Given the description of an element on the screen output the (x, y) to click on. 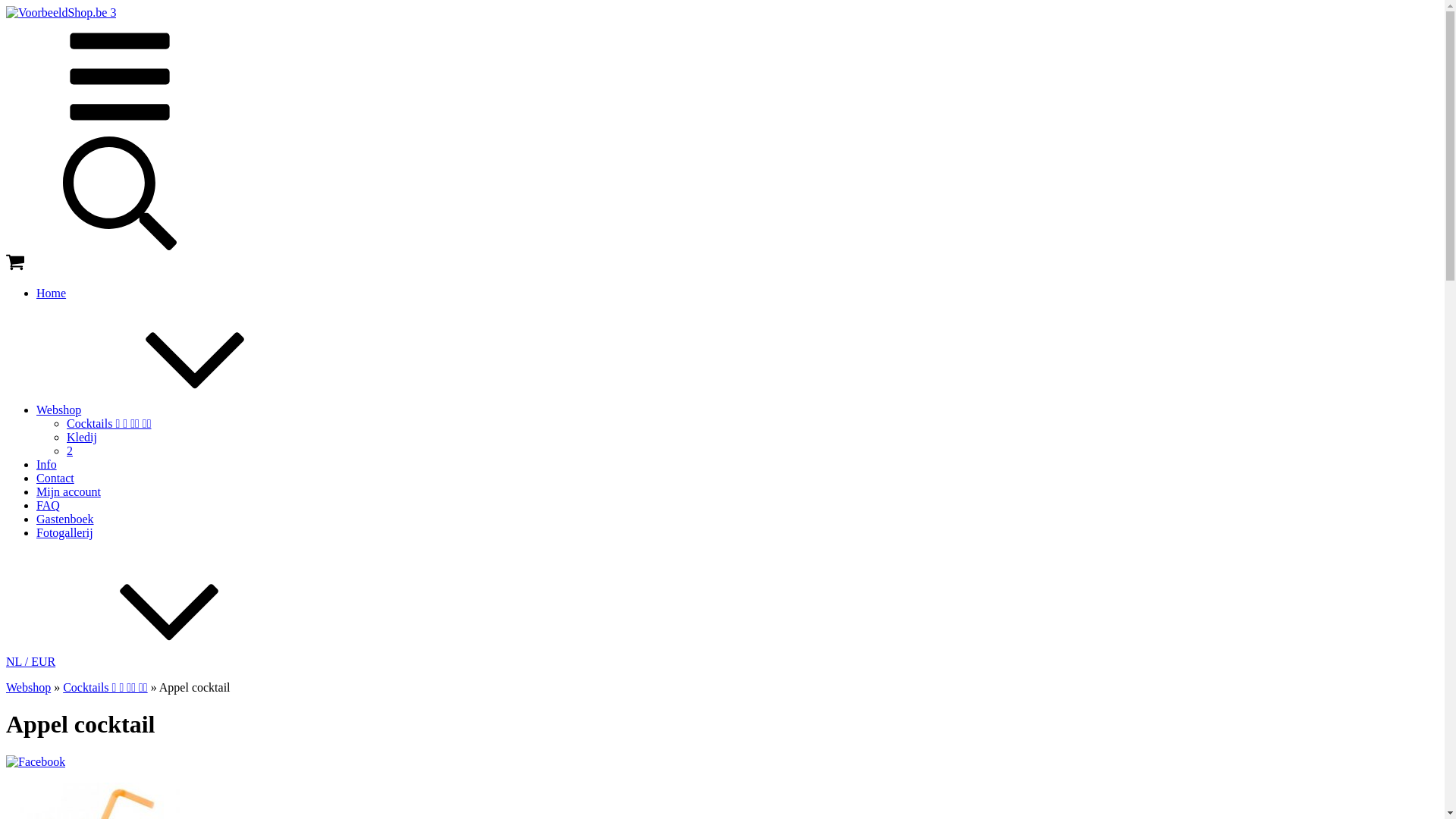
Home Element type: text (50, 292)
Zoeken Element type: text (119, 245)
Webshop Element type: text (28, 686)
Kledij Element type: text (81, 436)
FAQ Element type: text (47, 504)
Contact Element type: text (55, 477)
Fotogallerij Element type: text (64, 532)
2 Element type: text (69, 450)
NL / EUR Element type: text (144, 661)
Mijn account Element type: text (68, 491)
Gastenboek Element type: text (65, 518)
Webshop Element type: text (172, 409)
Info Element type: text (46, 464)
